Given the description of an element on the screen output the (x, y) to click on. 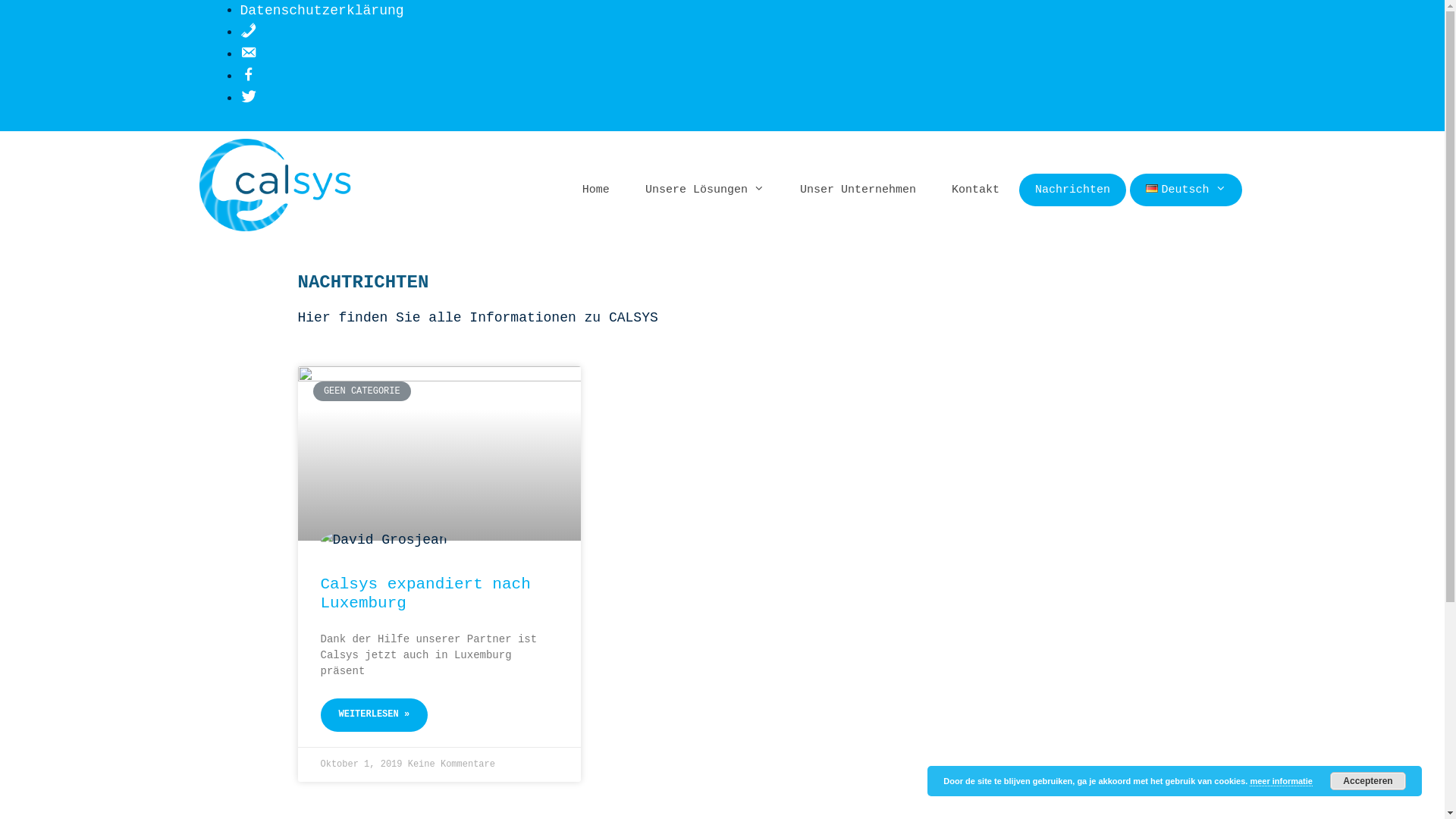
Deutsch Element type: text (1185, 189)
fb Element type: text (247, 76)
Nachrichten Element type: text (1072, 189)
Twitter Element type: text (247, 98)
Kontakt Element type: text (975, 189)
Mail Element type: text (247, 54)
tel Element type: text (247, 32)
Accepteren Element type: text (1367, 780)
meer informatie Element type: text (1280, 781)
Unser Unternehmen Element type: text (857, 189)
Calsys expandiert nach Luxemburg Element type: text (425, 593)
Home Element type: text (595, 189)
